Given the description of an element on the screen output the (x, y) to click on. 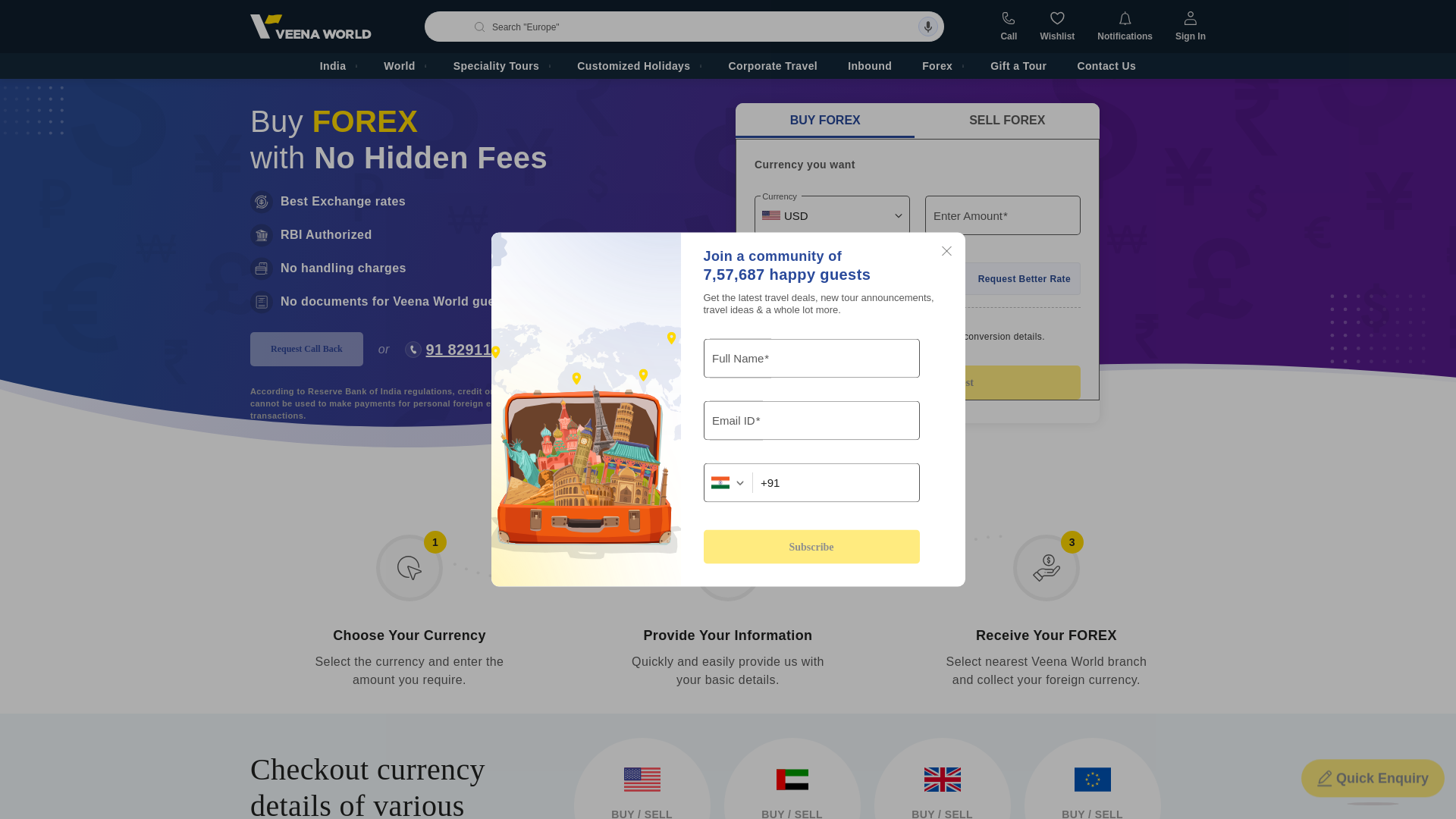
Wishlist (1056, 26)
India (336, 65)
